Given the description of an element on the screen output the (x, y) to click on. 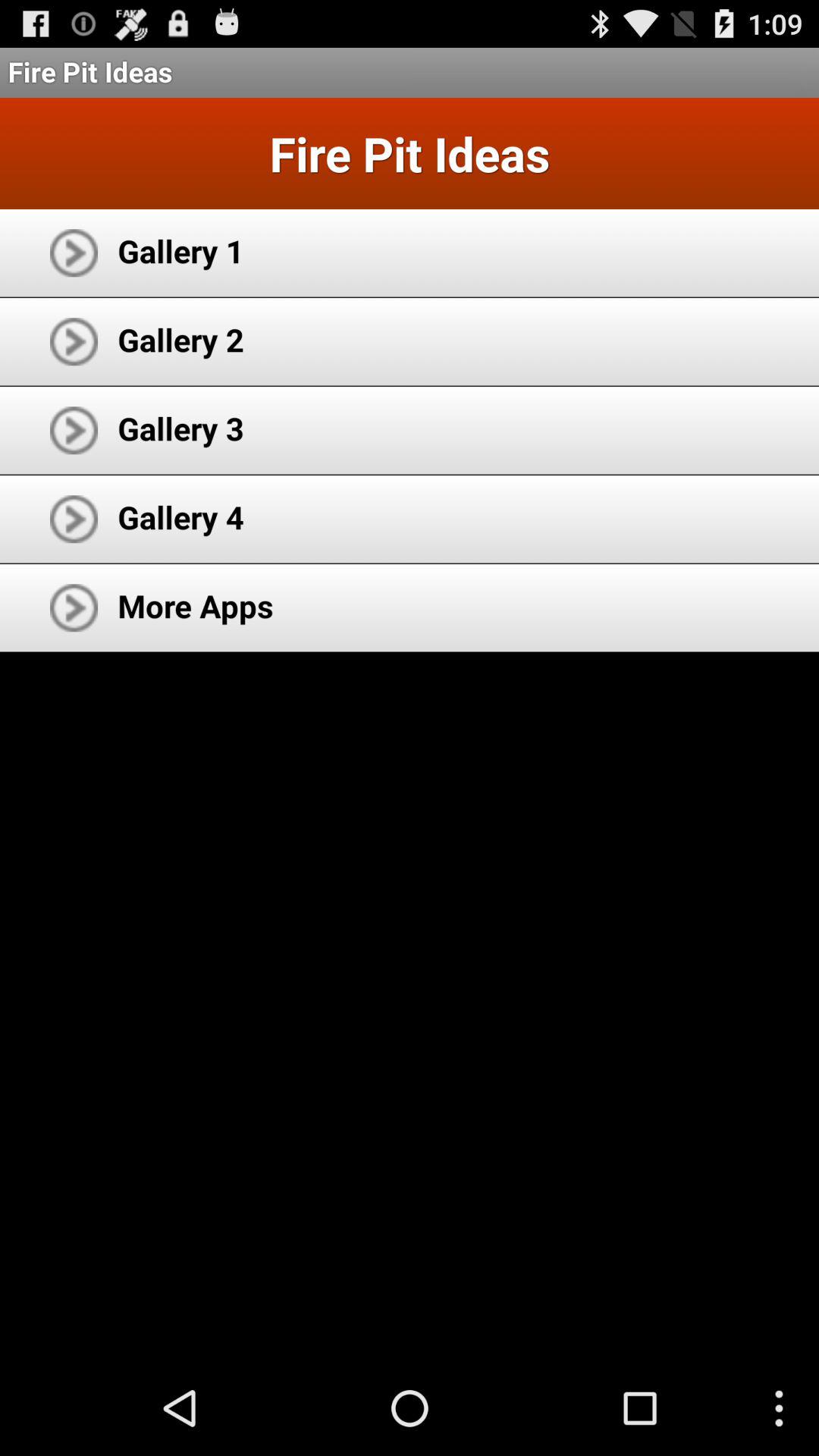
press icon above the more apps icon (180, 516)
